Given the description of an element on the screen output the (x, y) to click on. 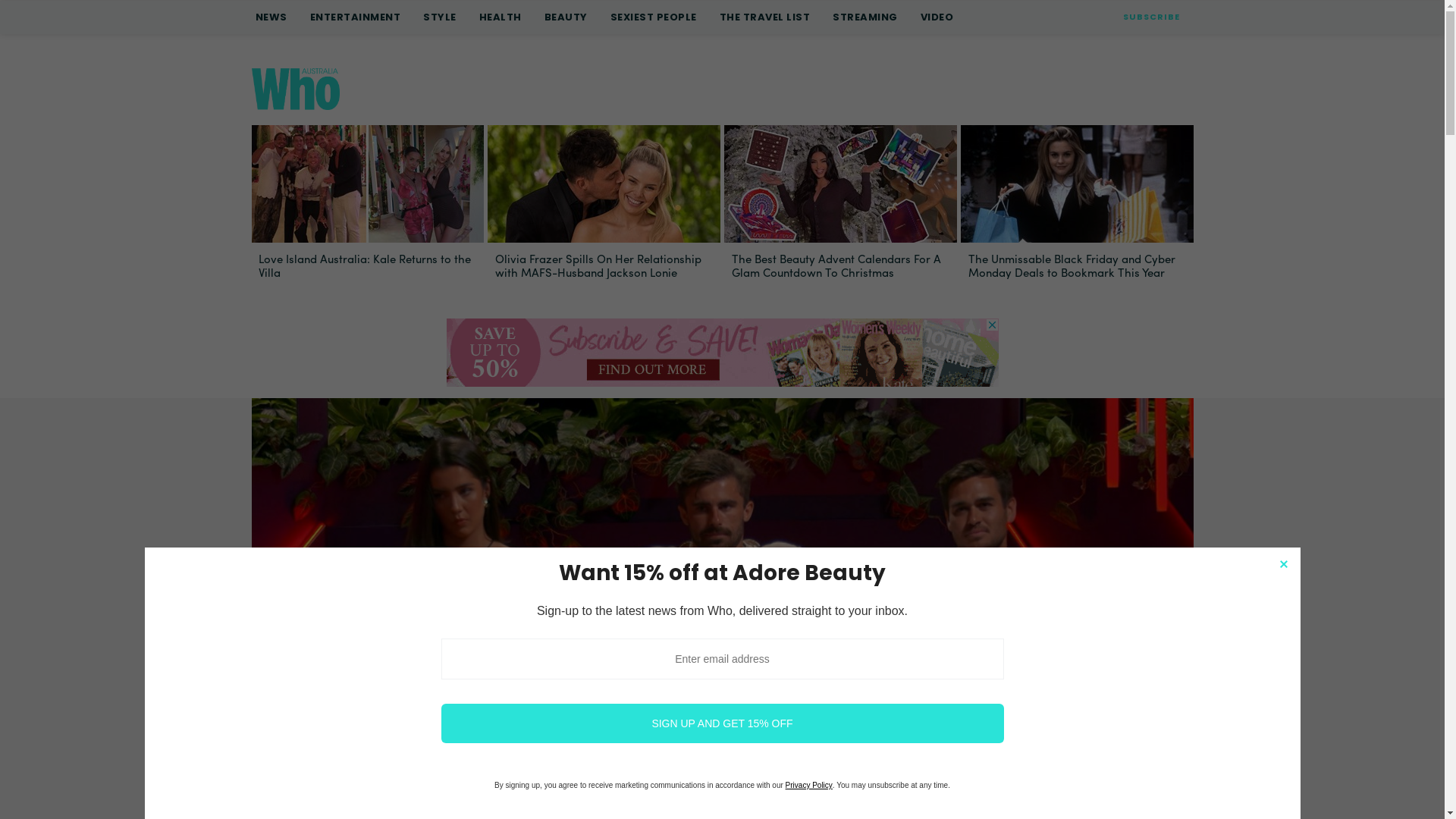
VIDEO Element type: text (937, 16)
Love Island Australia: Kale Returns to the Villa Element type: text (366, 184)
SEXIEST PEOPLE Element type: text (652, 16)
SUBSCRIBE Element type: text (1151, 16)
STREAMING Element type: text (864, 16)
BEAUTY Element type: text (565, 16)
SIGN UP AND GET 15% OFF Element type: text (722, 723)
Privacy Policy Element type: text (808, 785)
STYLE Element type: text (439, 16)
ENTERTAINMENT Element type: text (354, 16)
NEWS Element type: text (270, 16)
3rd party ad content Element type: hover (721, 352)
HEALTH Element type: text (500, 16)
THE TRAVEL LIST Element type: text (763, 16)
